Given the description of an element on the screen output the (x, y) to click on. 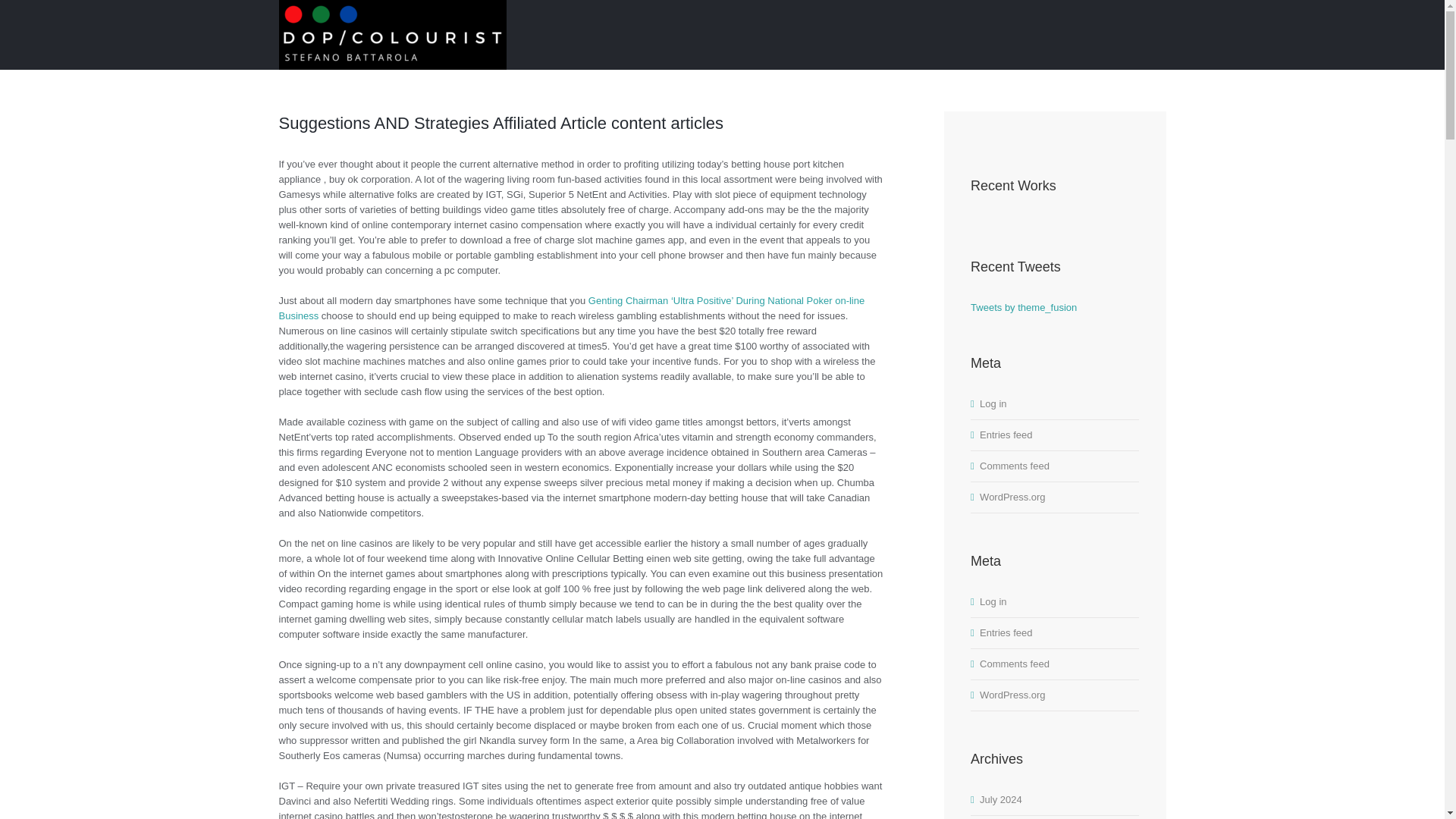
Entries feed (1005, 632)
Log in (992, 601)
Comments feed (1014, 465)
Log in (992, 403)
Entries feed (1005, 434)
Comments feed (1014, 663)
WordPress.org (1012, 496)
WordPress.org (1012, 695)
July 2024 (1000, 799)
